Given the description of an element on the screen output the (x, y) to click on. 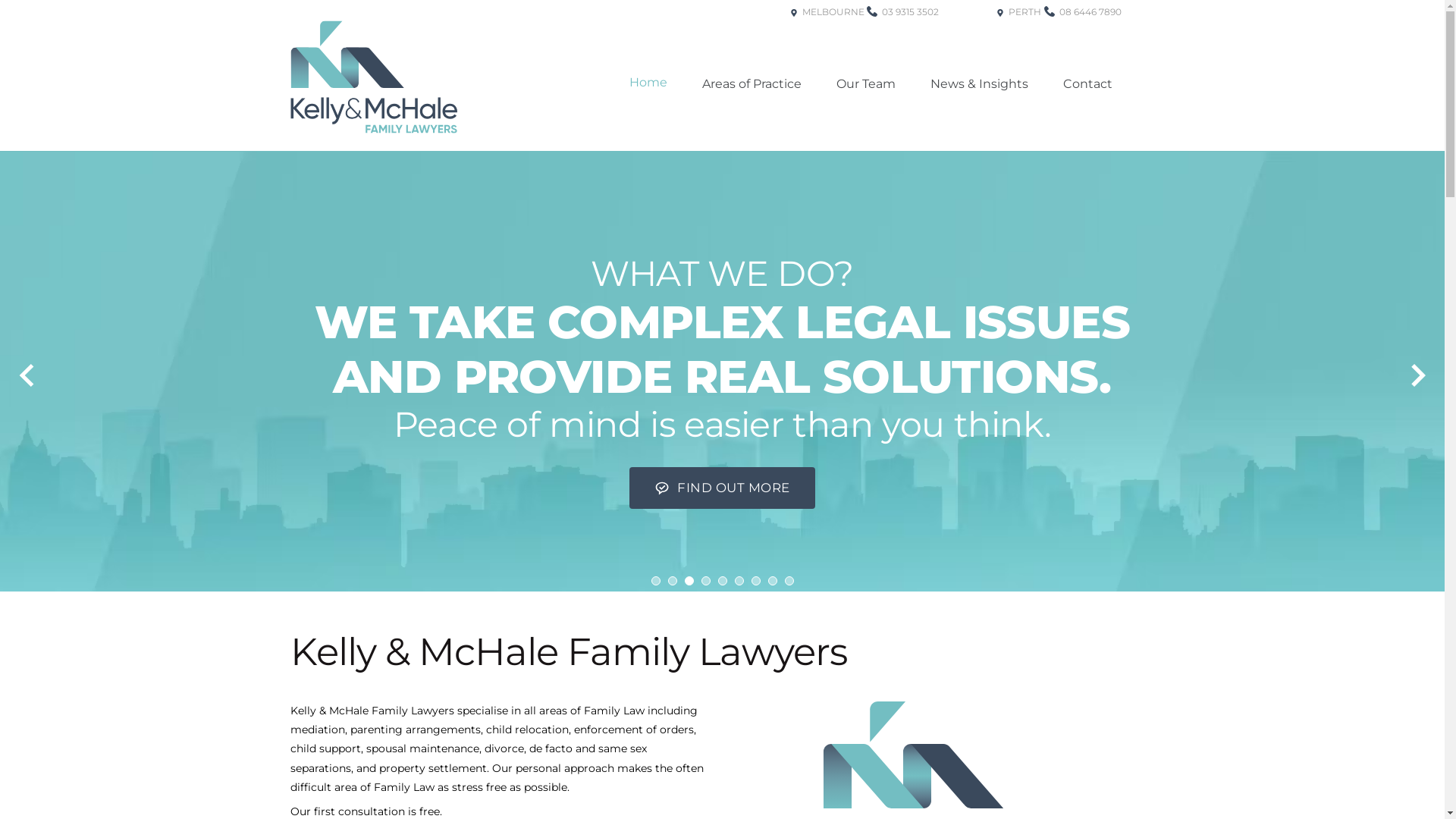
MELBOURNE Element type: text (827, 36)
Home Element type: text (648, 82)
News & Insights Element type: text (978, 83)
03 9315 3502 Element type: text (902, 36)
WE CAN HELP Element type: text (1098, 494)
Contact Element type: text (1087, 83)
08 6446 7890 Element type: text (1081, 36)
PERTH Element type: text (1018, 36)
TALK TO US Element type: text (936, 484)
Areas of Practice Element type: text (751, 83)
Our Team Element type: text (865, 83)
